Given the description of an element on the screen output the (x, y) to click on. 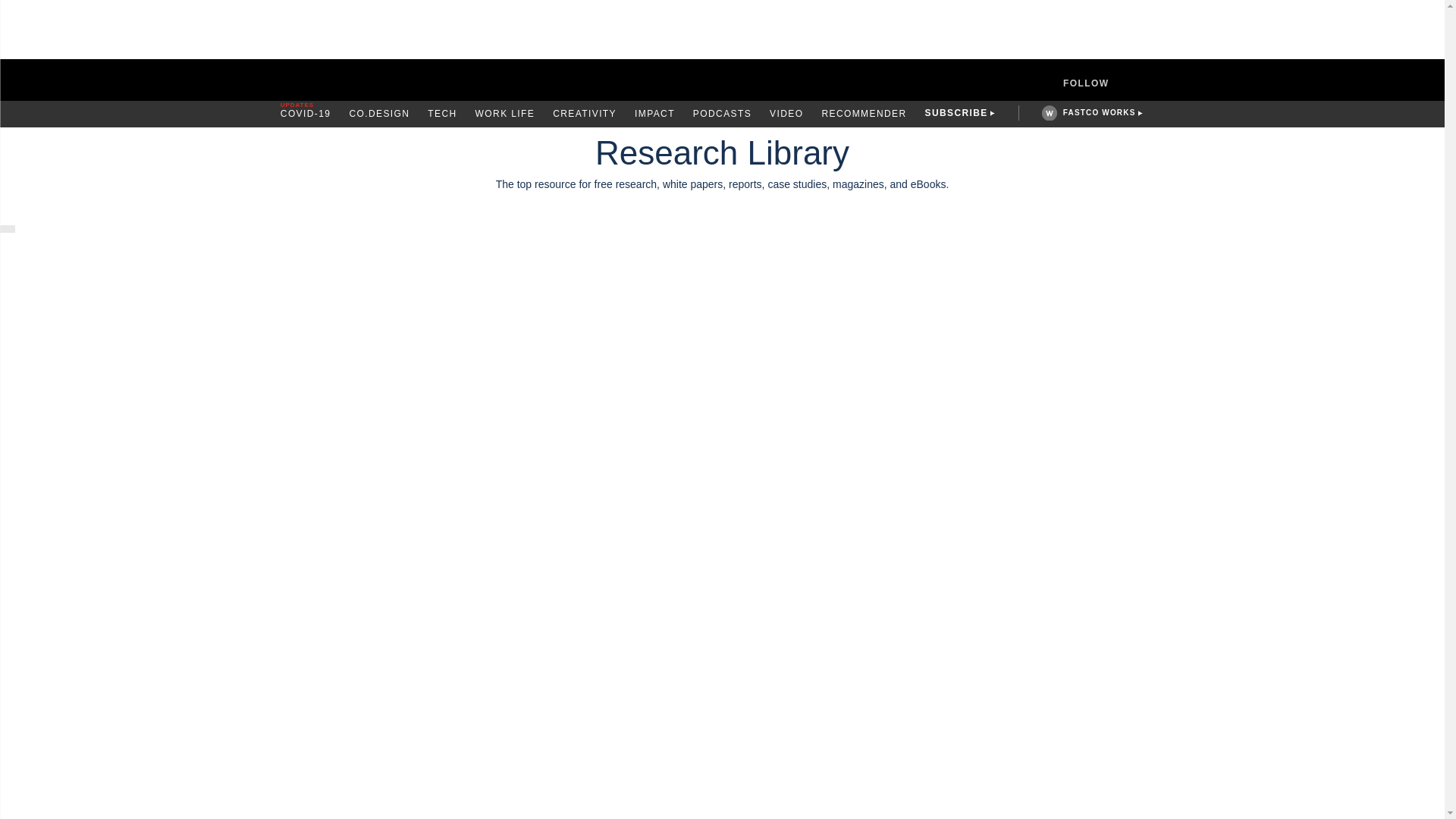
CREATIVITY (584, 113)
COVID-19 (306, 113)
SUBSCRIBE (956, 113)
Podcasts (722, 113)
COVID-19 (306, 113)
Fast Company (721, 79)
RECOMMENDER (863, 113)
PODCASTS (722, 113)
CO.DESIGN (379, 113)
Creativity (584, 113)
Recommender (863, 113)
FASTCO WORKS (1098, 112)
VIDEO (786, 113)
WORK LIFE (505, 113)
Work Life (505, 113)
